Given the description of an element on the screen output the (x, y) to click on. 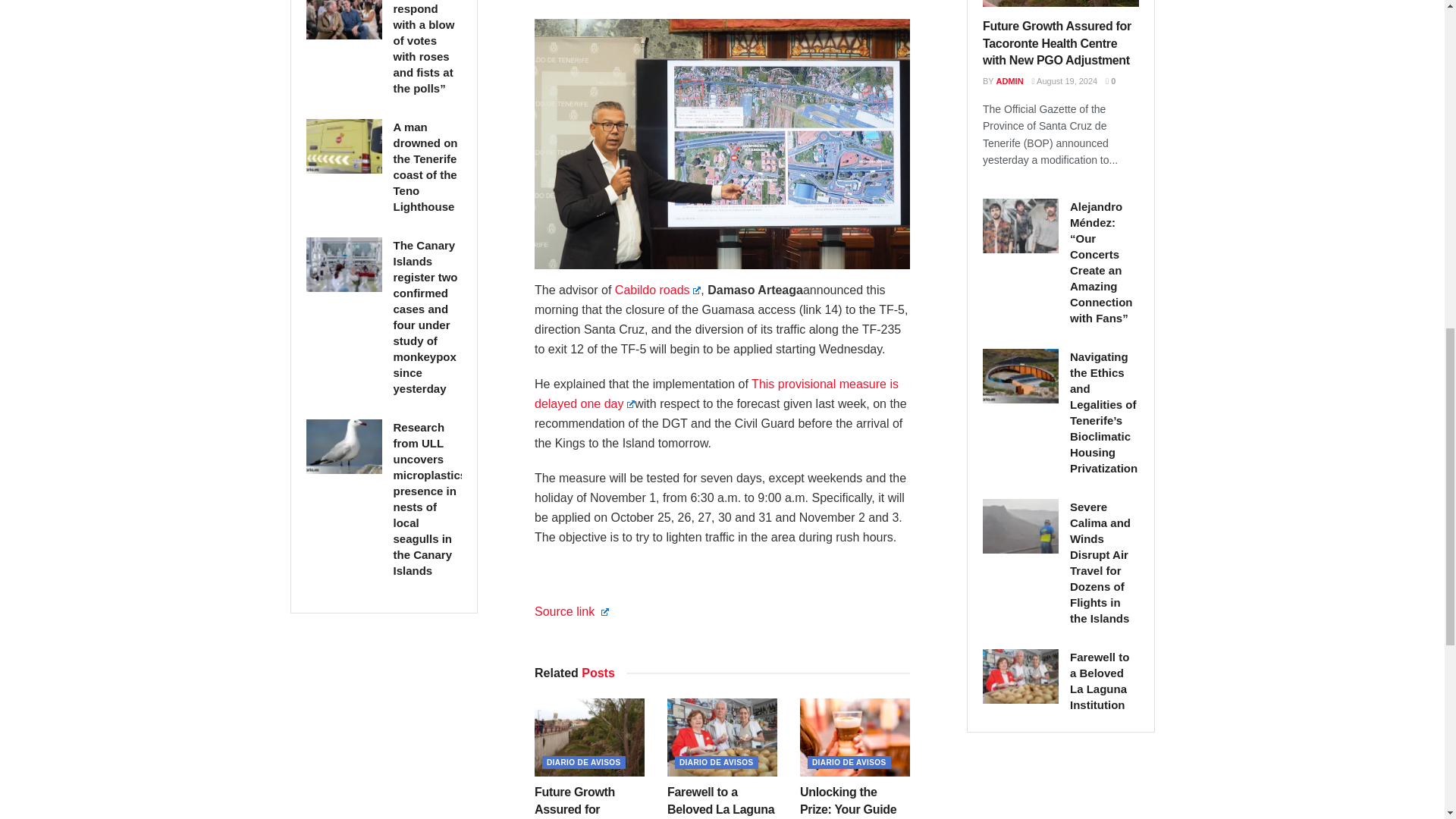
This provisional measure is delayed one day (716, 393)
Source link (571, 611)
Cabildo roads (657, 289)
